Given the description of an element on the screen output the (x, y) to click on. 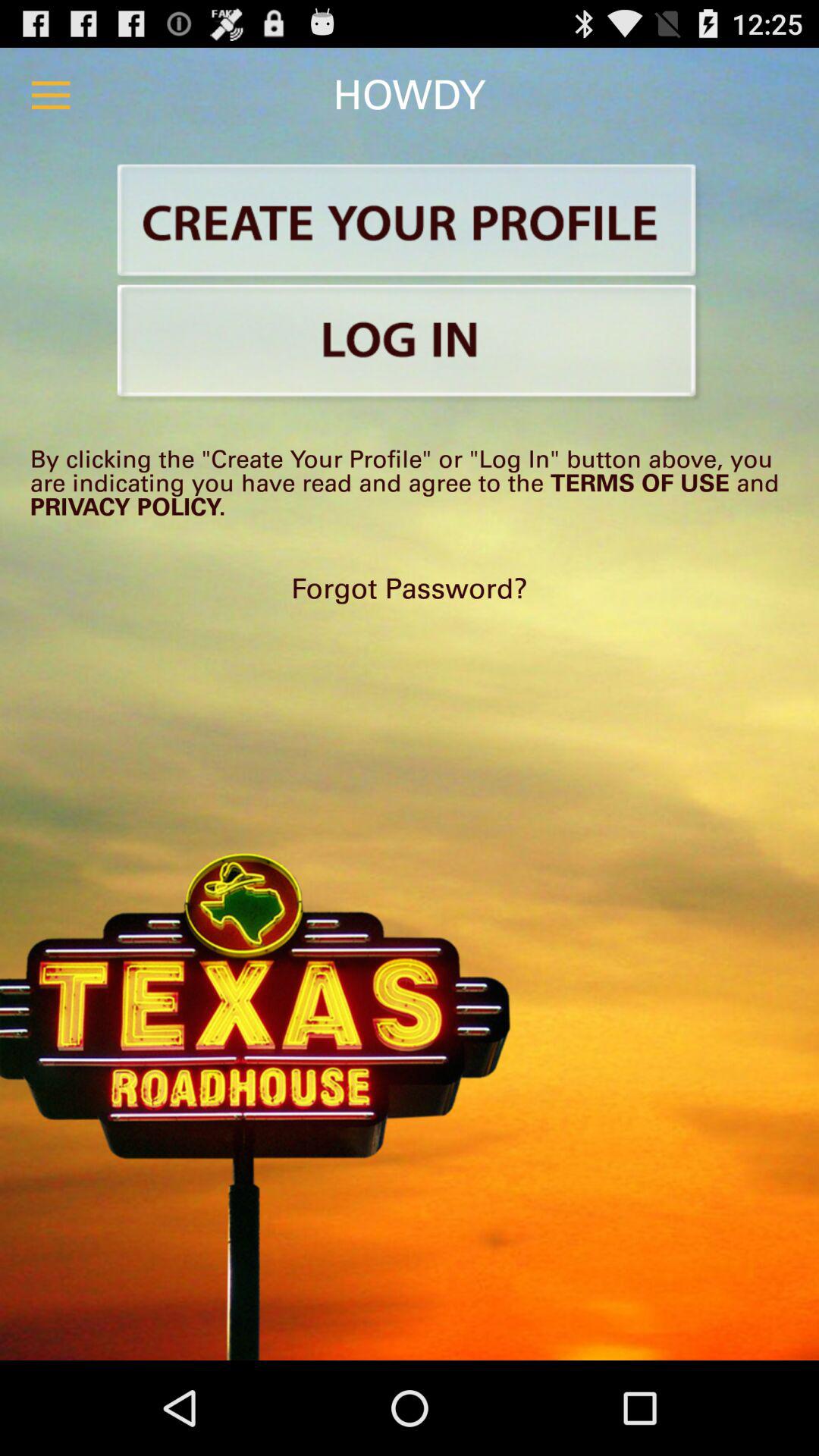
select the item below the howdy item (409, 223)
